Given the description of an element on the screen output the (x, y) to click on. 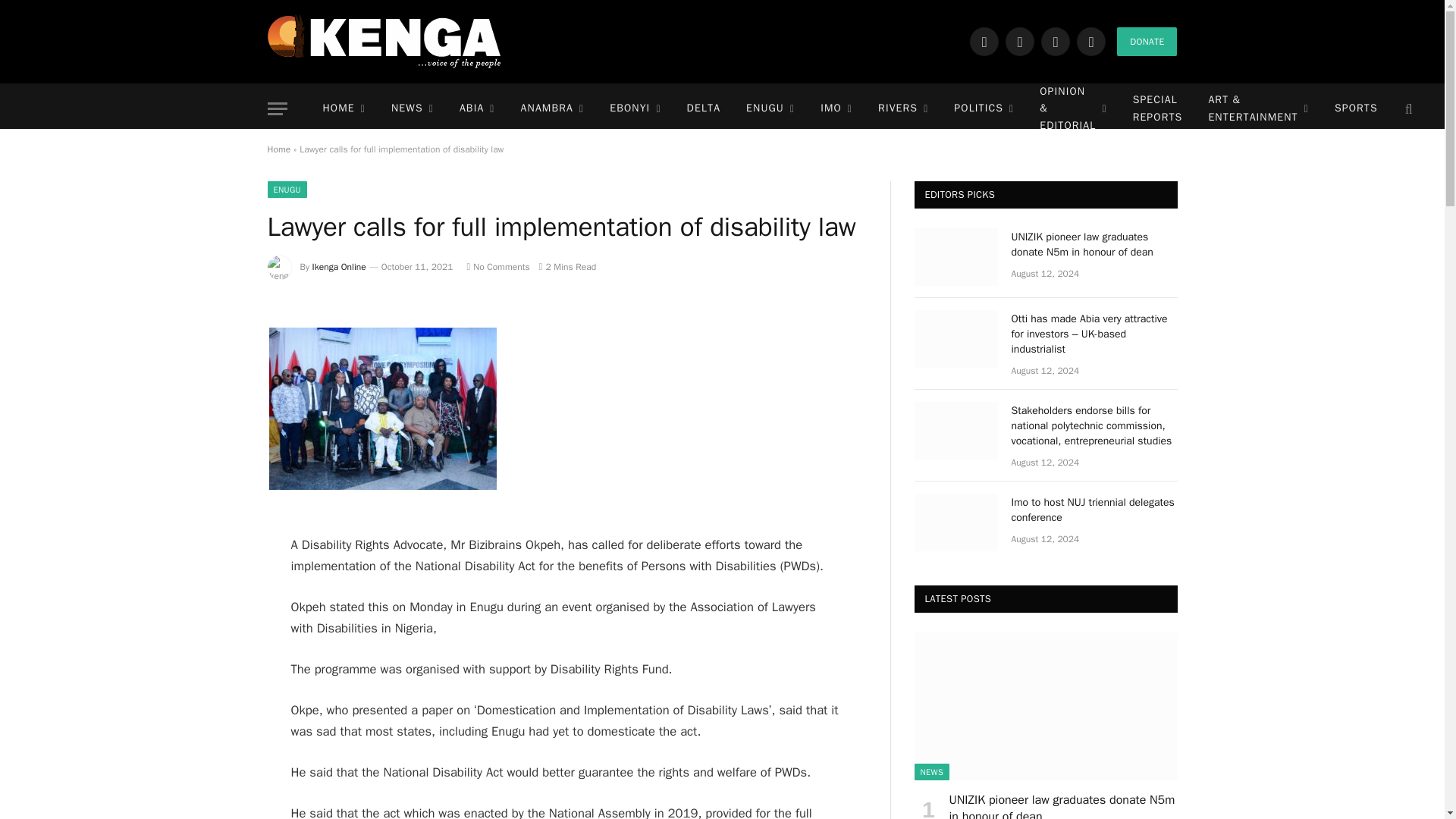
DONATE (1146, 41)
Twitter (1019, 41)
NEWS (412, 108)
YouTube (1091, 41)
Facebook (983, 41)
HOME (342, 108)
Ikenga Online (383, 41)
Instagram (1055, 41)
